Given the description of an element on the screen output the (x, y) to click on. 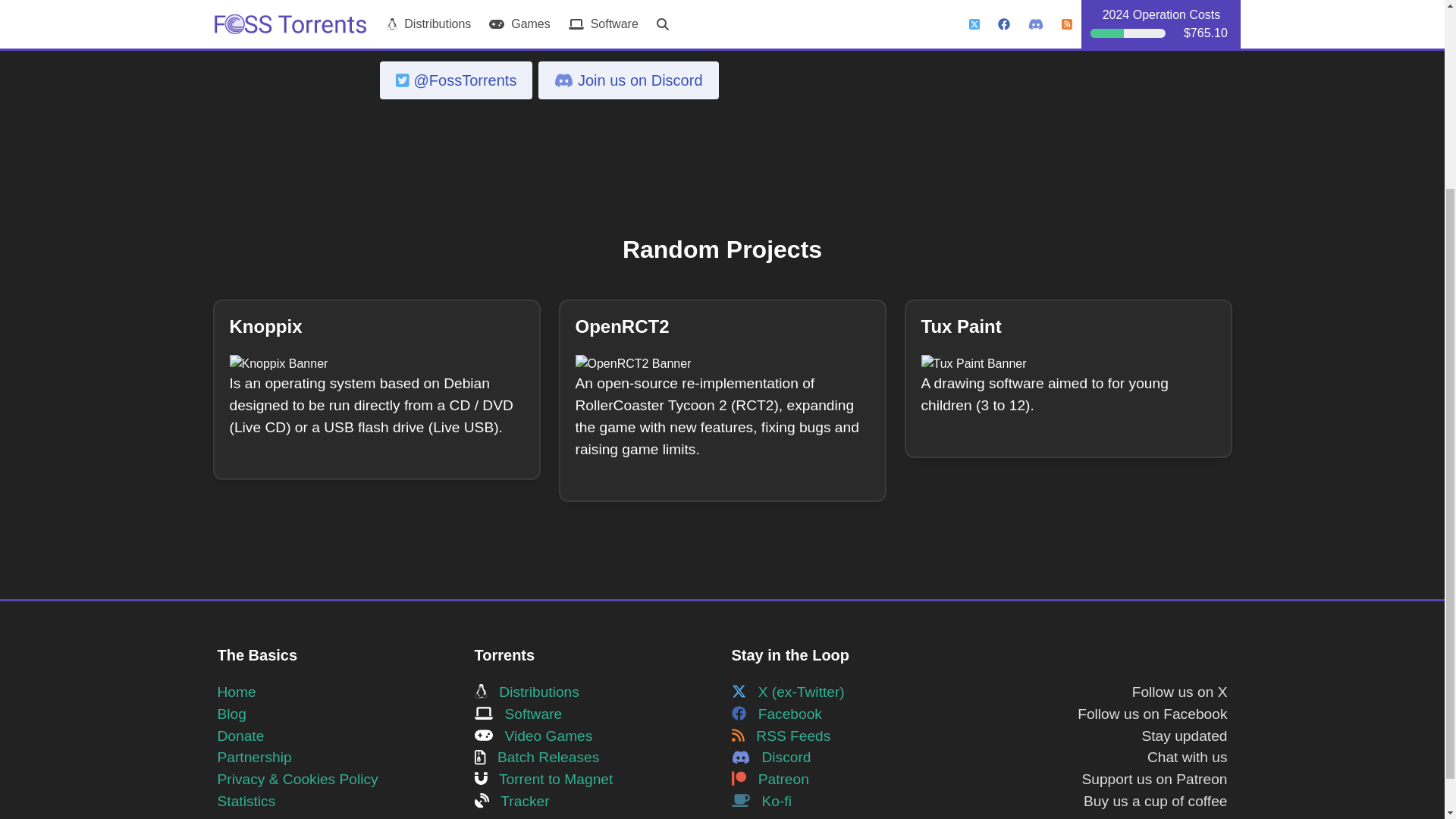
  RSS Feeds (779, 735)
Statistics (245, 801)
  Discord (770, 756)
 Join us on Discord (627, 80)
Blog (231, 713)
Donate (239, 735)
Partnership (253, 756)
  Tracker (512, 801)
  Ko-fi (760, 801)
  Batch Releases (536, 756)
  Torrent to Magnet (543, 779)
  Software (518, 713)
  Patreon (769, 779)
  Facebook (775, 713)
  Video Games (533, 735)
